Given the description of an element on the screen output the (x, y) to click on. 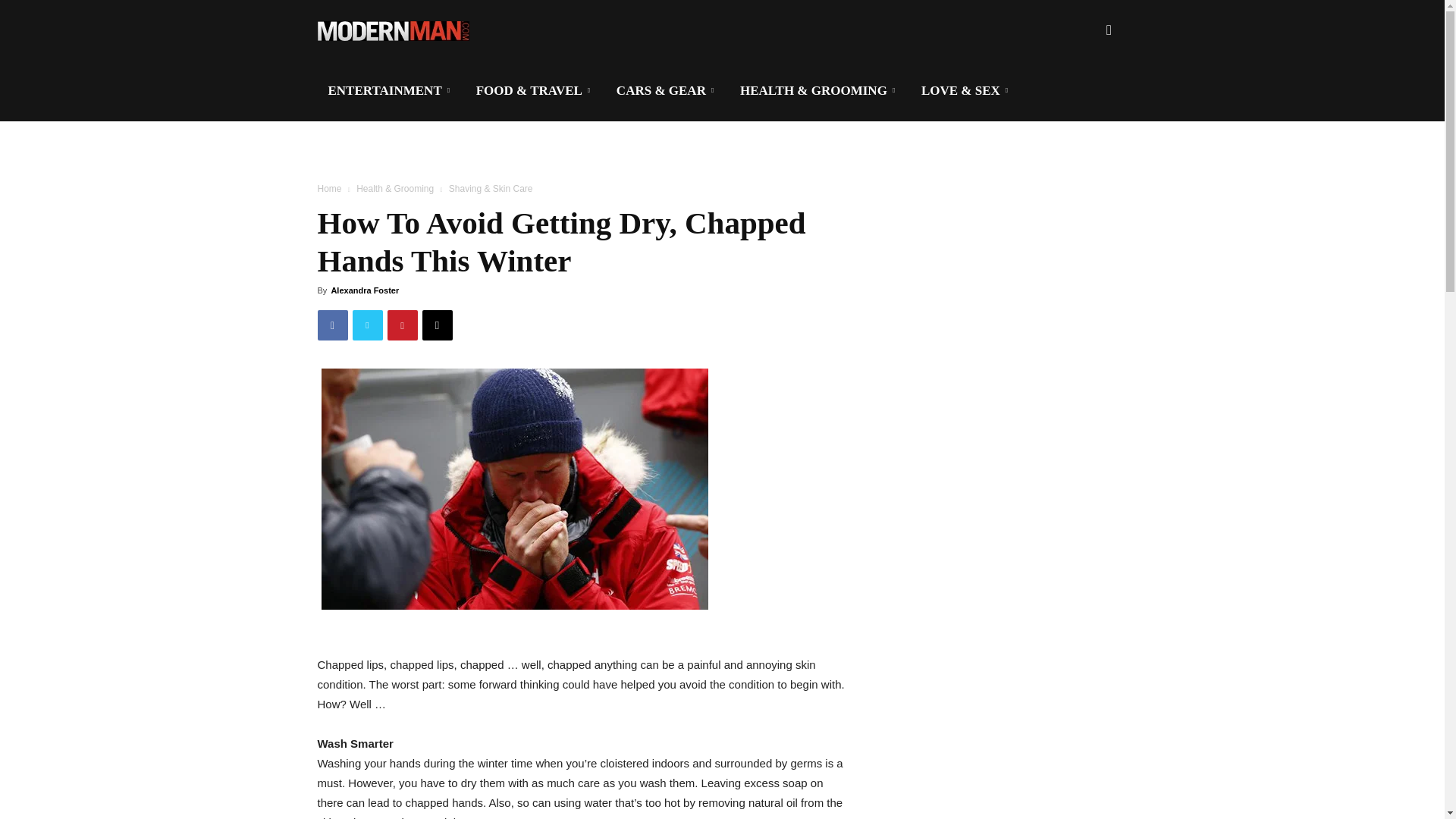
Search (1085, 102)
Modern Man (392, 30)
How To Avoid Dry, Chapped Hands (514, 488)
